Given the description of an element on the screen output the (x, y) to click on. 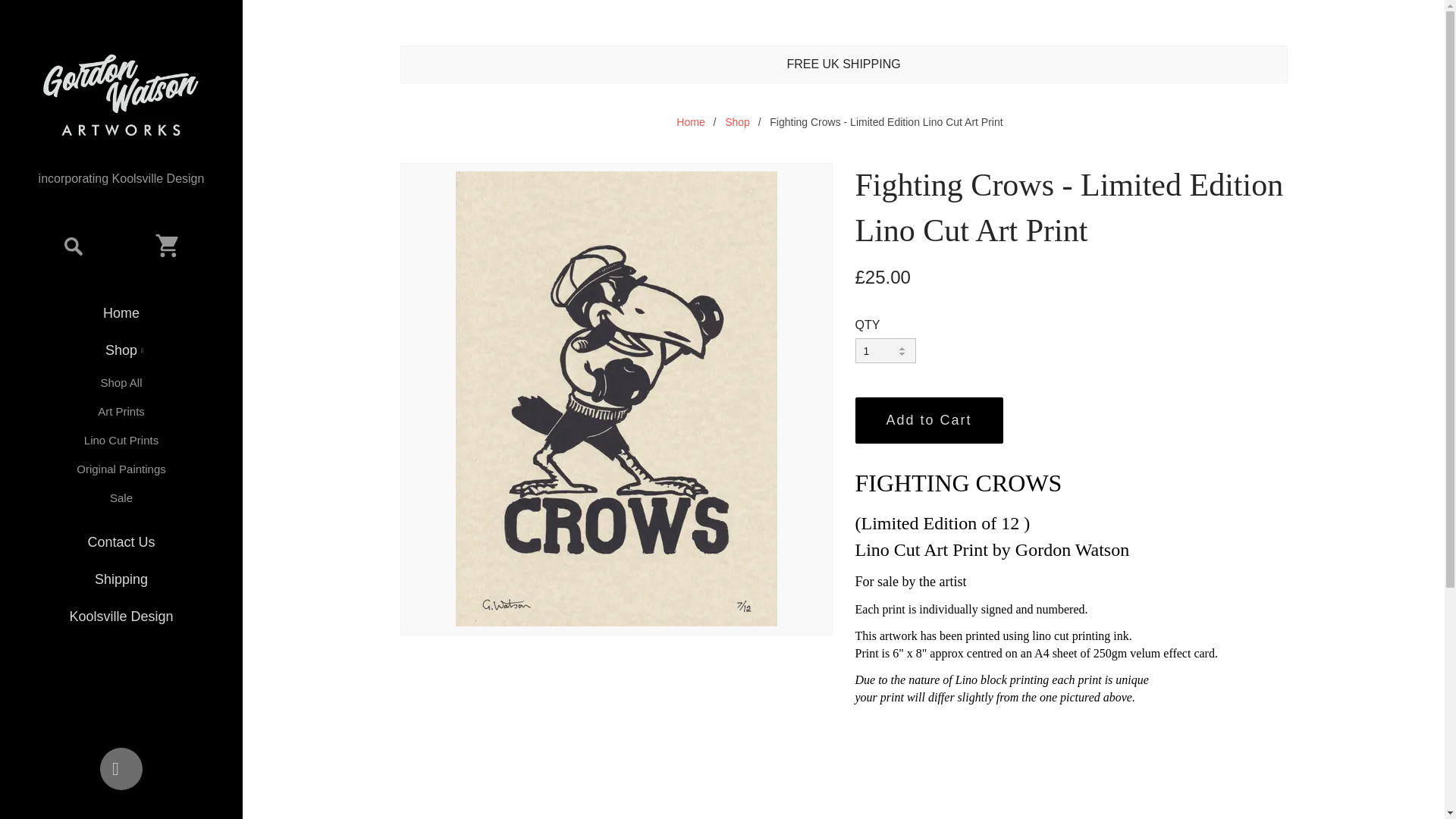
Home (121, 313)
1 (885, 350)
Sale (120, 498)
Shop All (121, 382)
Home (690, 121)
Art Prints (121, 411)
FREE UK SHIPPING (843, 64)
Shipping (121, 579)
Contact Us (120, 542)
Shop (737, 121)
Add to Cart (929, 420)
Add to Cart (929, 420)
Koolsville Design (120, 616)
Original Paintings (120, 469)
